Given the description of an element on the screen output the (x, y) to click on. 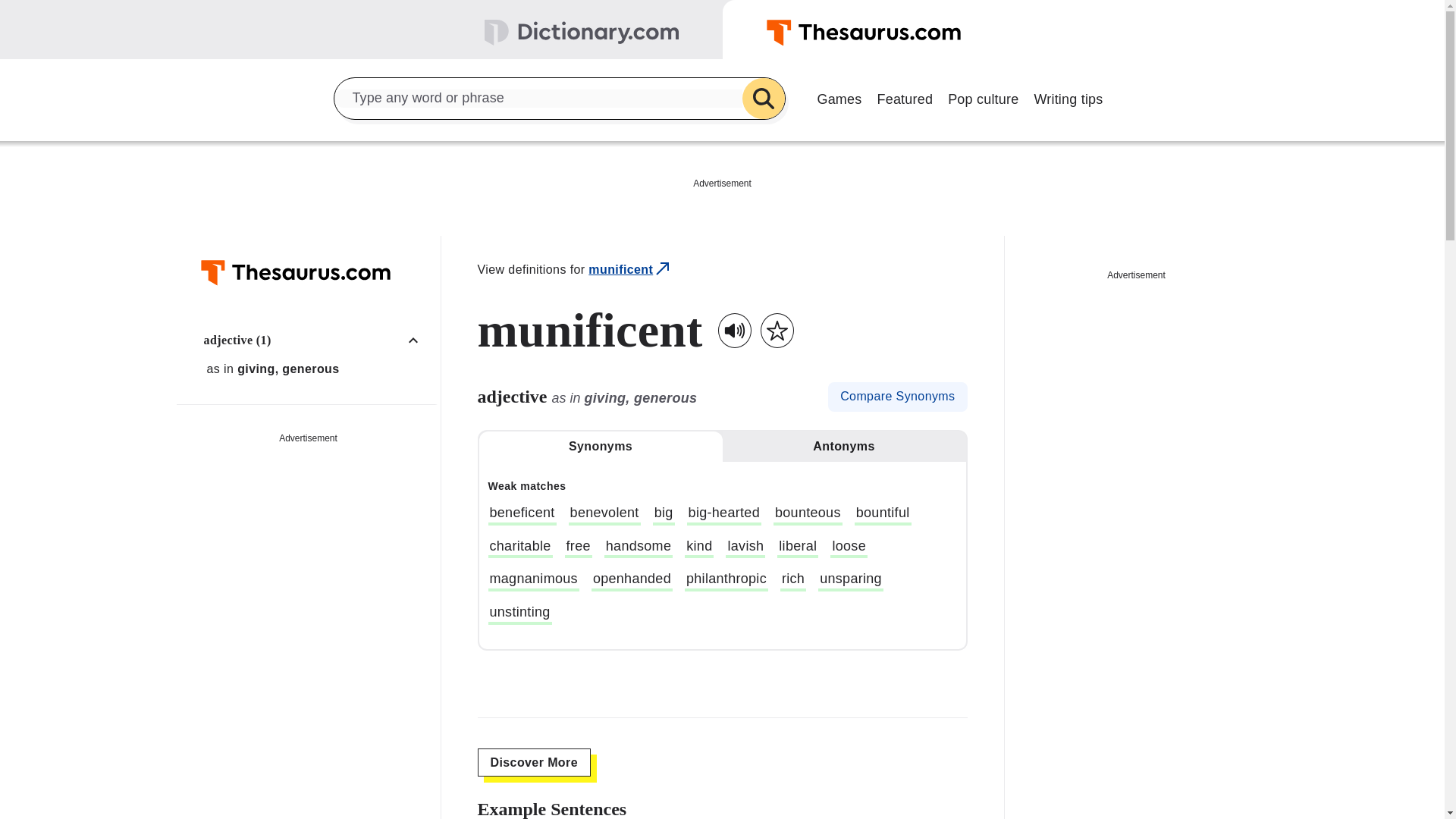
Pop culture (983, 97)
Writing tips (1067, 97)
beneficent (521, 514)
Games (839, 97)
Featured (904, 97)
Synonyms (600, 446)
Antonyms (843, 446)
munificent (630, 270)
Compare Synonyms (897, 396)
as in giving, generous (316, 369)
